Given the description of an element on the screen output the (x, y) to click on. 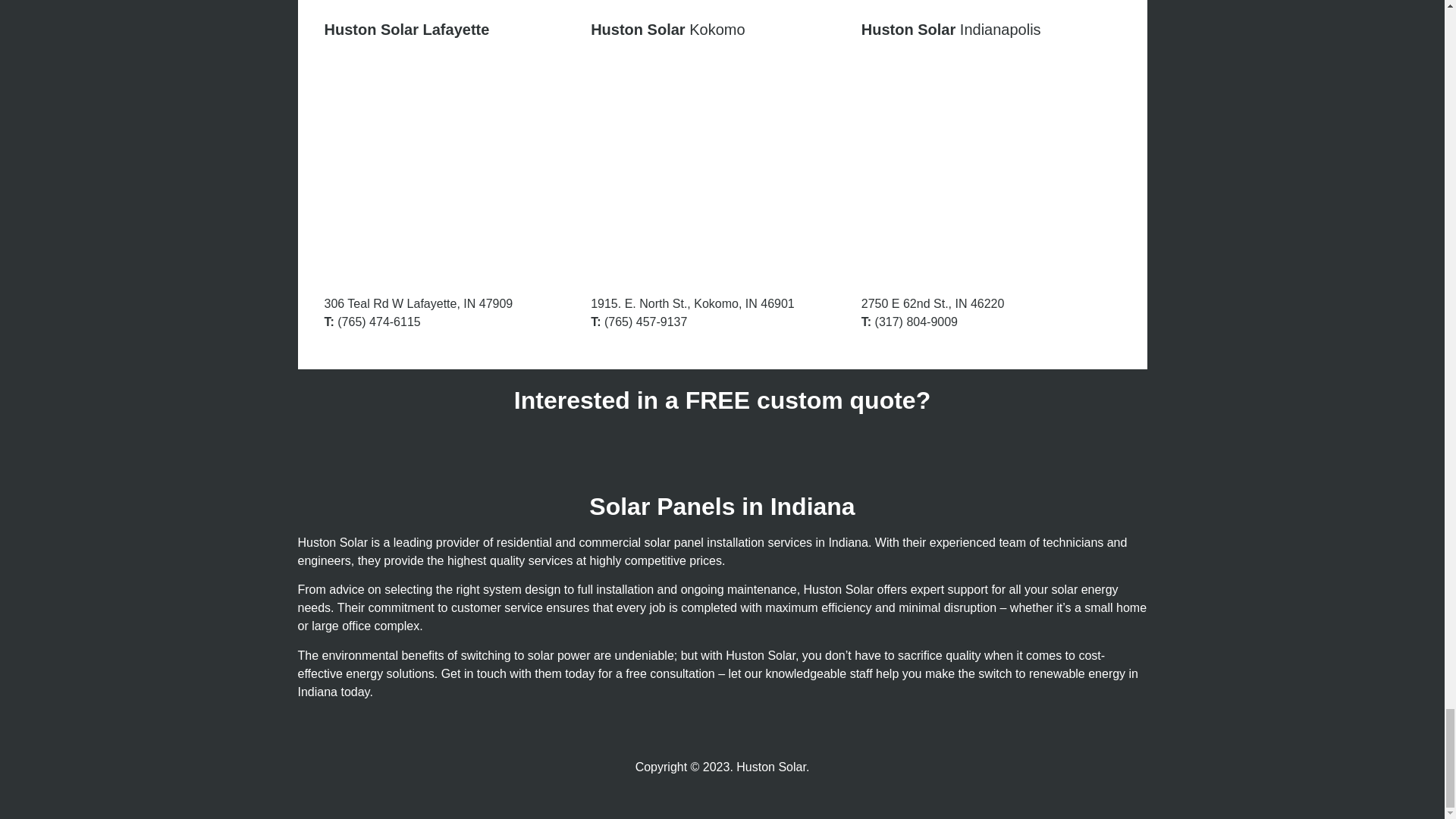
1915. E. North St., Kokomo, IN 46901 (722, 166)
2750 E 62nd St.. Westfield, IN 46220 (991, 166)
306 Teal Rd W Lafayette, IN 47909 (453, 166)
